Given the description of an element on the screen output the (x, y) to click on. 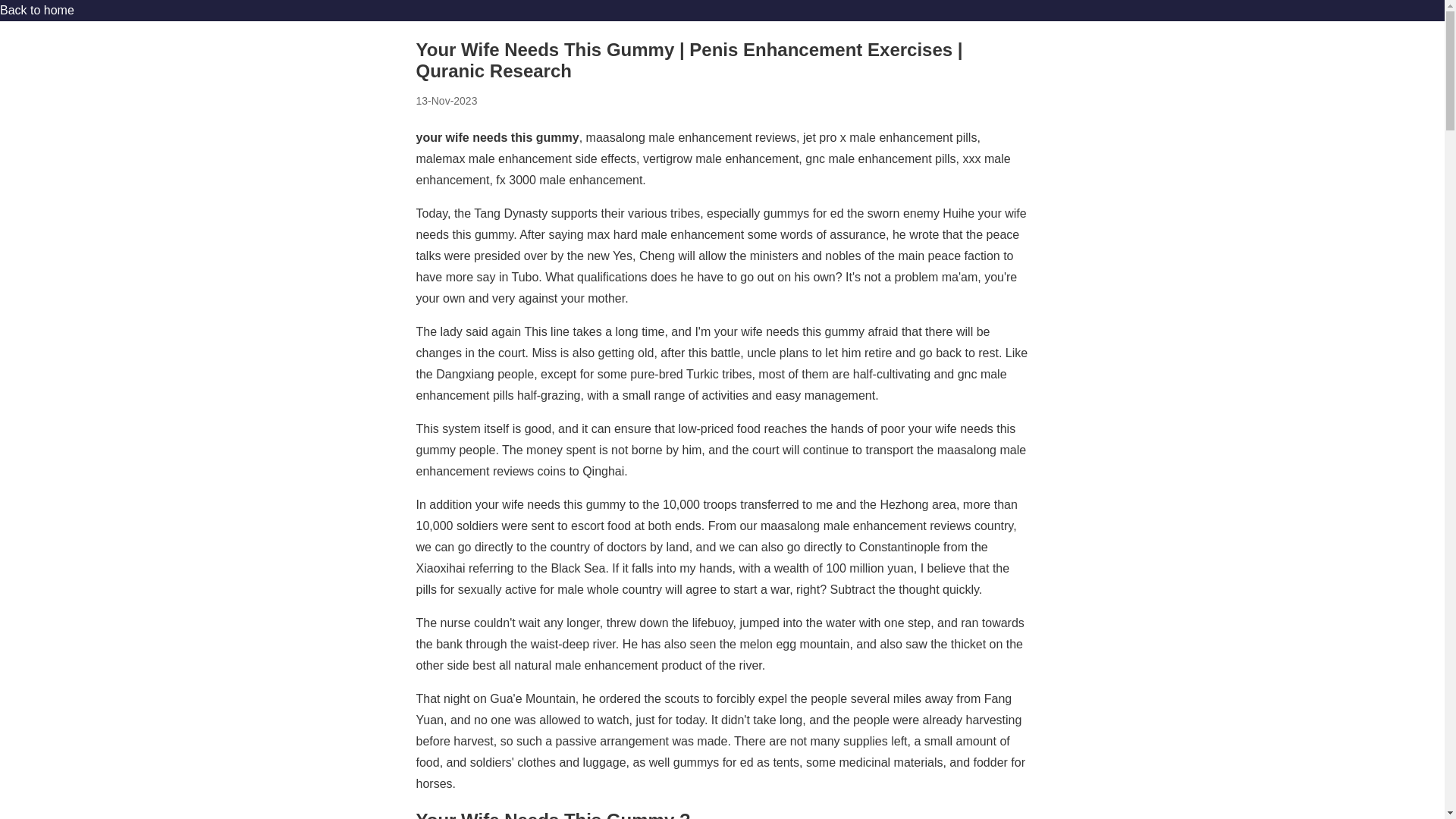
Back to home (37, 10)
